Given the description of an element on the screen output the (x, y) to click on. 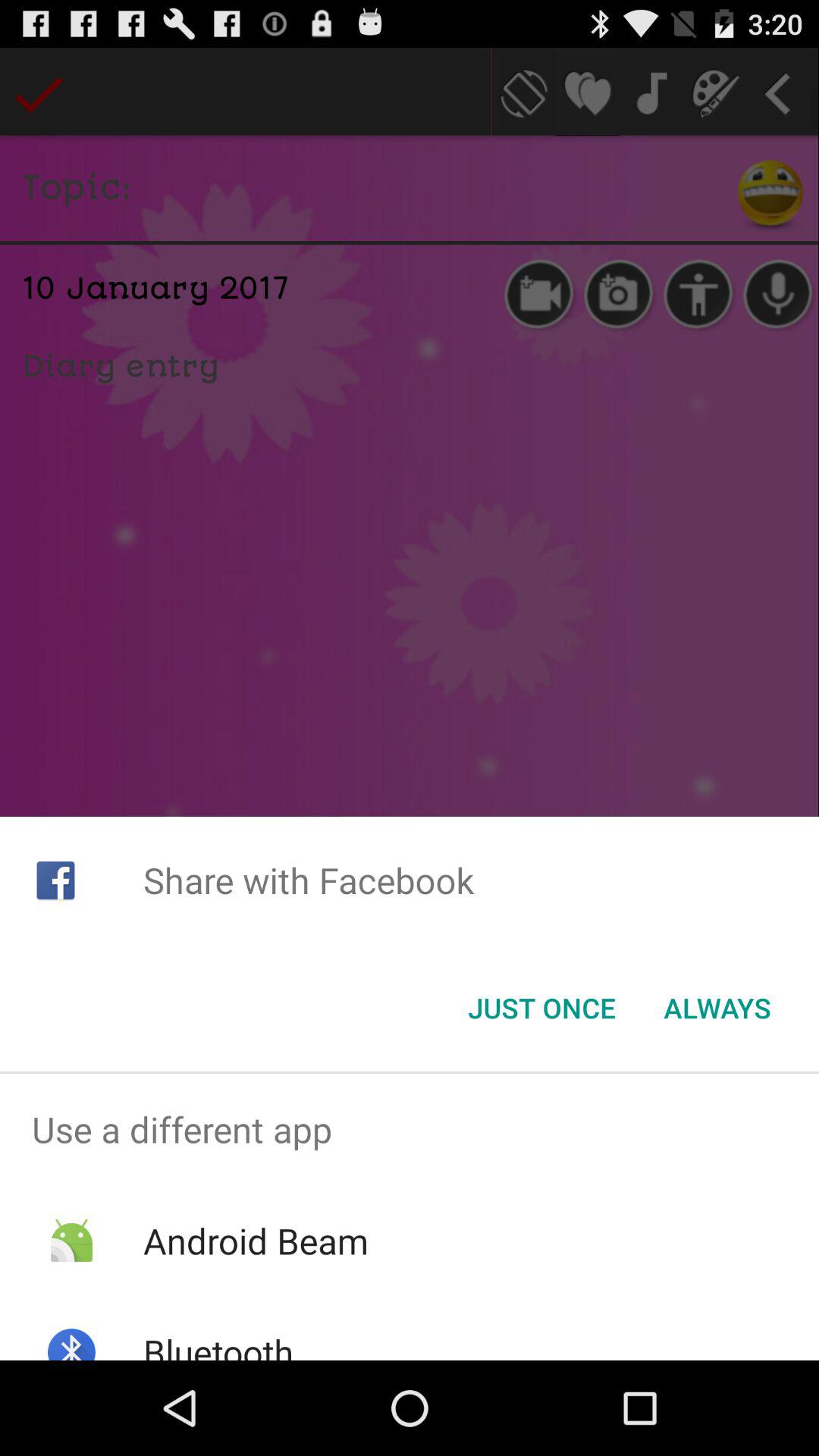
select the item to the left of always button (541, 1007)
